Given the description of an element on the screen output the (x, y) to click on. 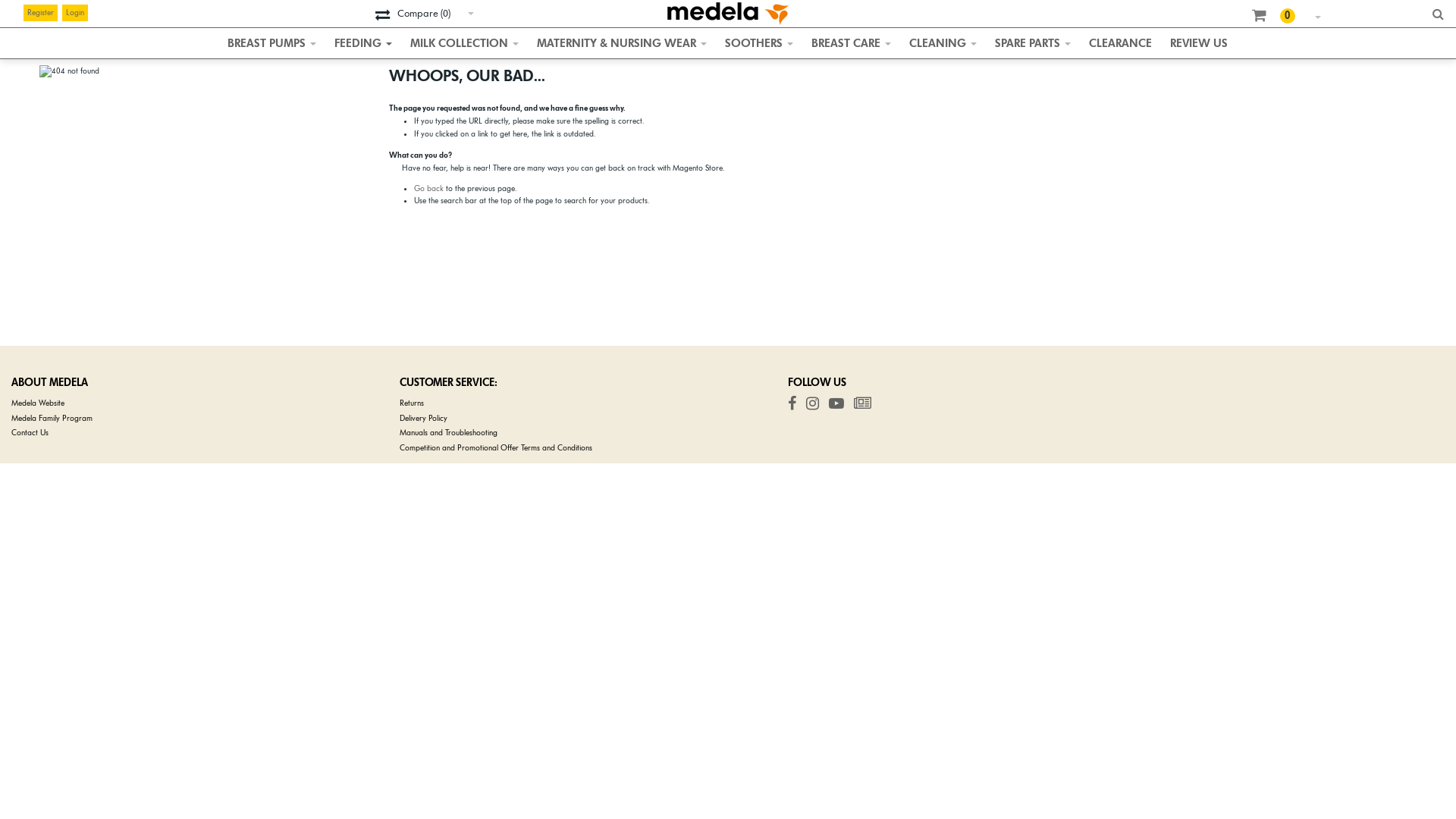
MILK COLLECTION   Element type: text (464, 43)
Returns Element type: text (411, 402)
Login Element type: text (74, 12)
FEEDING   Element type: text (363, 43)
MATERNITY & NURSING WEAR   Element type: text (621, 43)
Manuals and Troubleshooting Element type: text (448, 432)
REVIEW US Element type: text (1198, 43)
Delivery Policy Element type: text (423, 418)
Competition and Promotional Offer Terms and Conditions Element type: text (495, 447)
  Cart Subtotal (
0
) Element type: text (1270, 15)
Medela Family Program Element type: text (51, 418)
Go back Element type: text (428, 188)
Register Element type: text (40, 12)
SOOTHERS   Element type: text (758, 43)
BREAST CARE   Element type: text (851, 43)
CLEARANCE Element type: text (1120, 43)
BREAST PUMPS   Element type: text (271, 43)
Medela Website Element type: text (37, 402)
CLEANING   Element type: text (942, 43)
Contact Us Element type: text (29, 432)
SPARE PARTS   Element type: text (1032, 43)
